Given the description of an element on the screen output the (x, y) to click on. 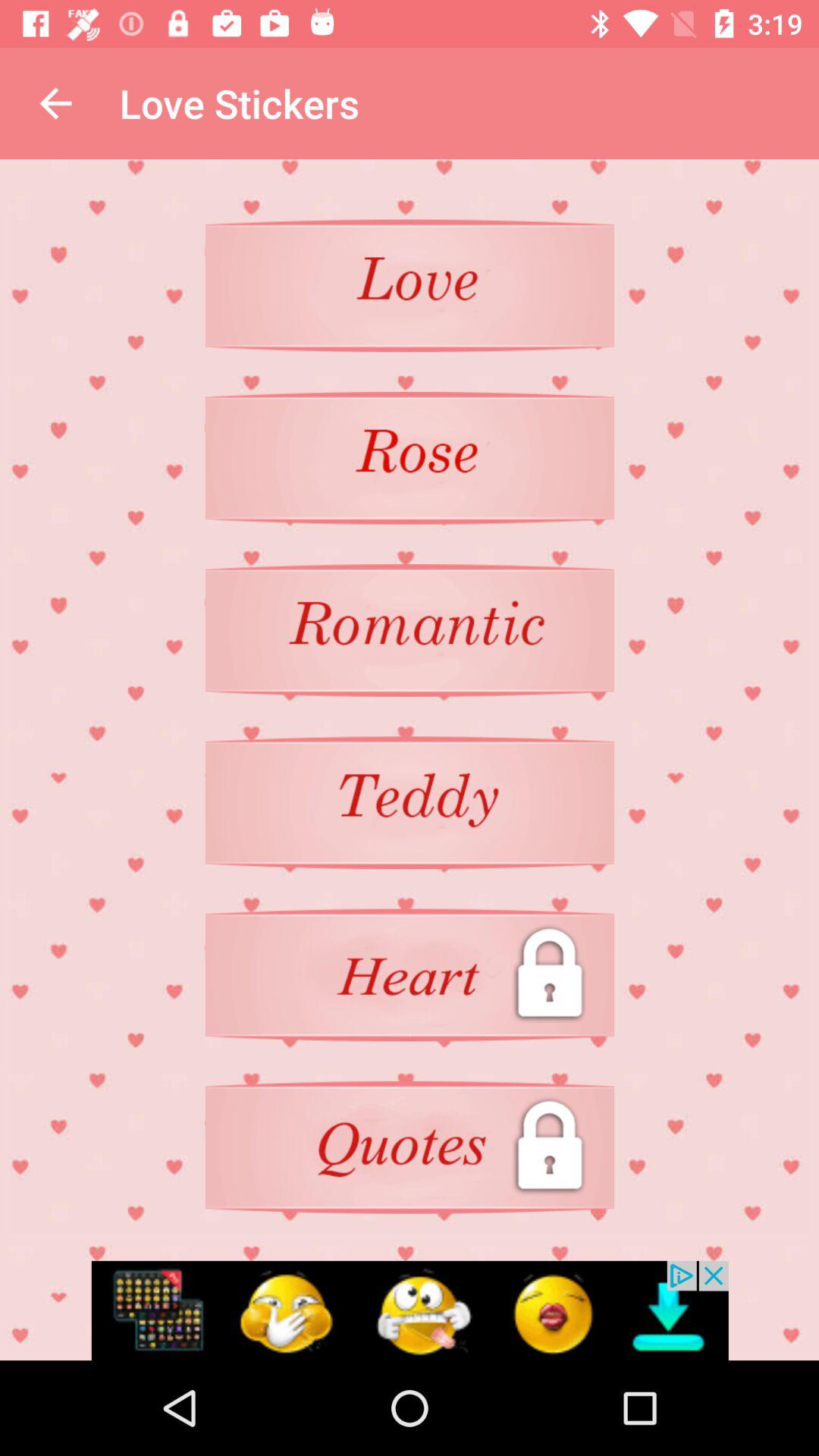
click on page (409, 285)
